Given the description of an element on the screen output the (x, y) to click on. 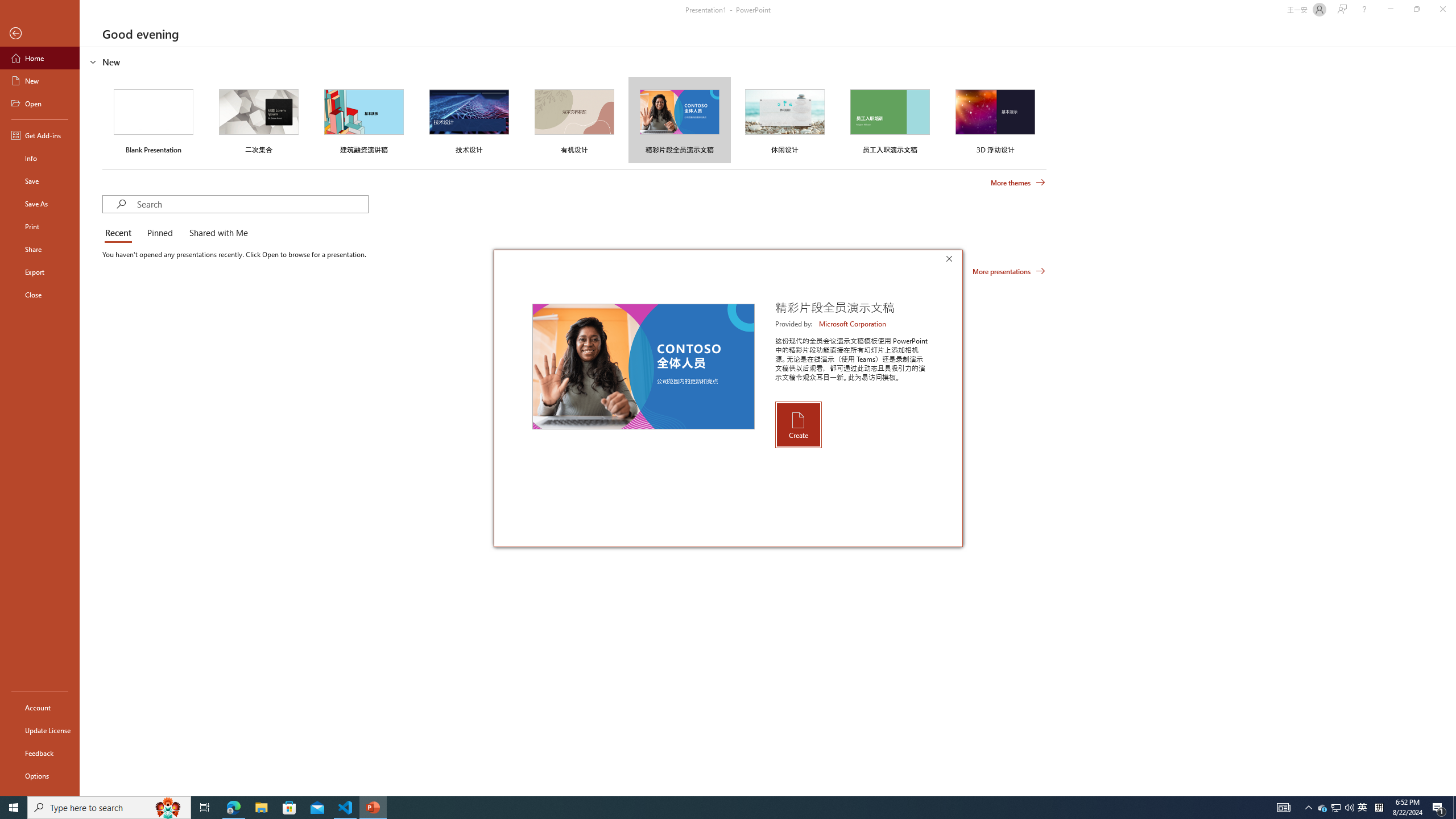
Print (40, 225)
Back (40, 33)
Microsoft Corporation (853, 323)
More themes (1018, 182)
Save As (40, 203)
Options (40, 775)
Get Add-ins (40, 134)
